Given the description of an element on the screen output the (x, y) to click on. 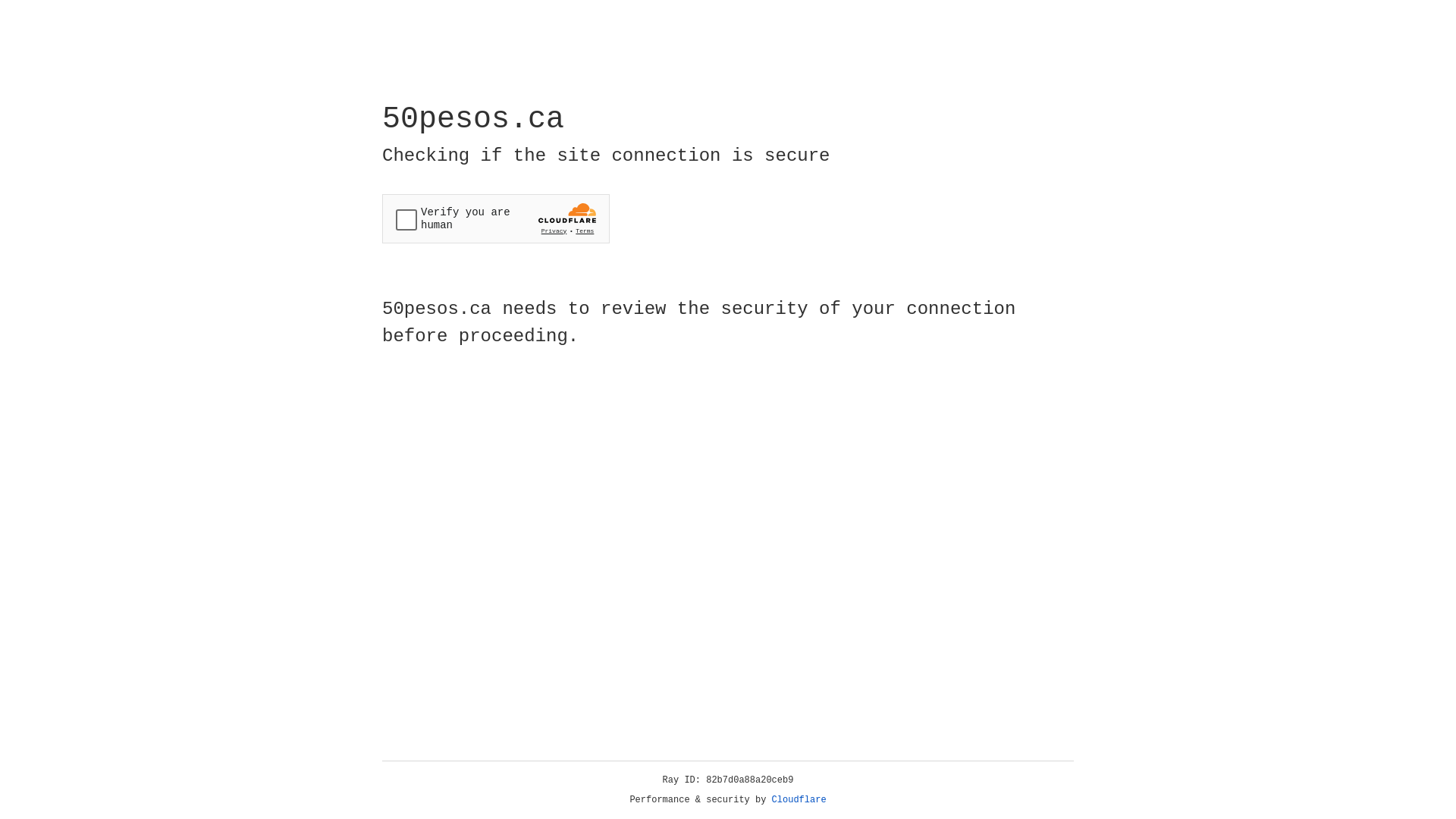
Cloudflare Element type: text (798, 799)
Widget containing a Cloudflare security challenge Element type: hover (495, 218)
